Given the description of an element on the screen output the (x, y) to click on. 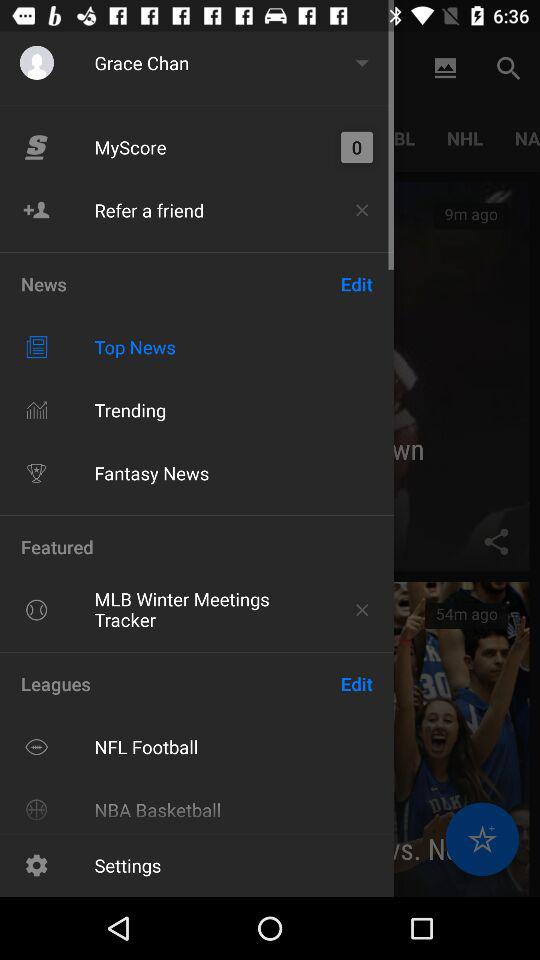
click the logo on left to the button my score on the web page (36, 147)
click on edit option right to news (357, 284)
